Given the description of an element on the screen output the (x, y) to click on. 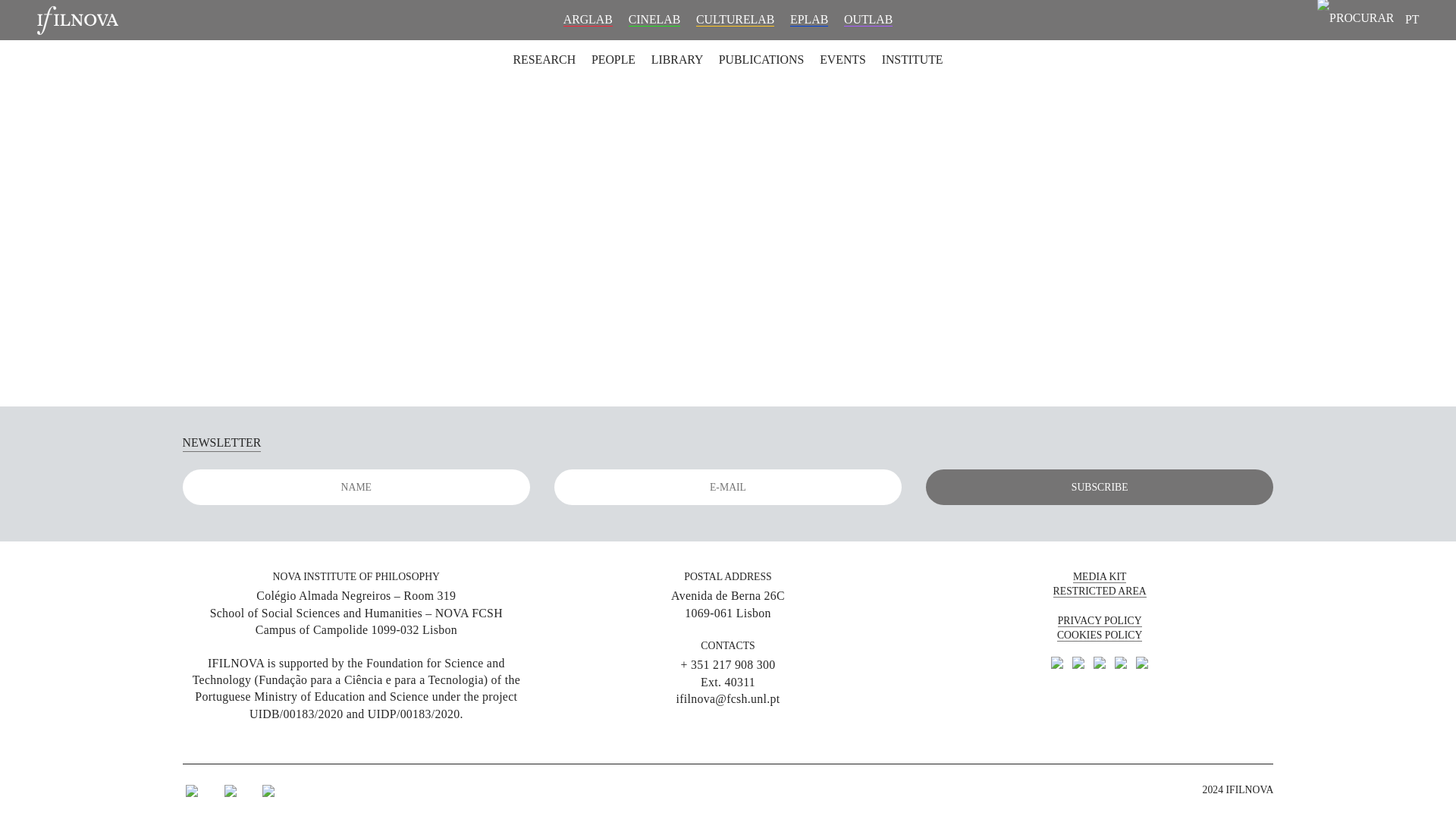
Subscribe (1100, 487)
